Given the description of an element on the screen output the (x, y) to click on. 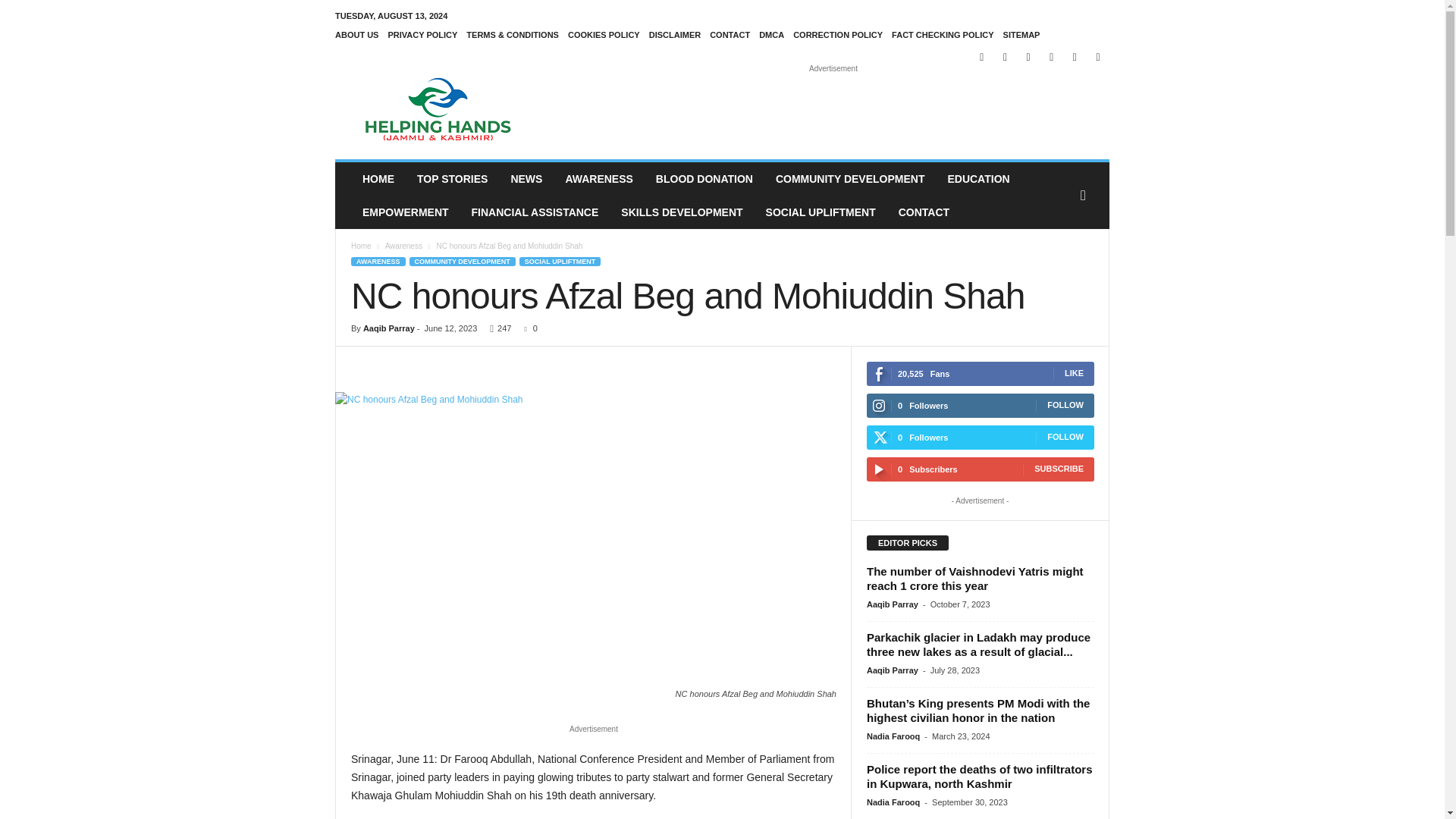
TOP STORIES (452, 178)
NEWS (526, 178)
COOKIES POLICY (603, 34)
PRIVACY POLICY (422, 34)
DISCLAIMER (674, 34)
FACT CHECKING POLICY (941, 34)
HOME (378, 178)
SITEMAP (1022, 34)
ABOUT US (356, 34)
Helping Hands (437, 109)
